Given the description of an element on the screen output the (x, y) to click on. 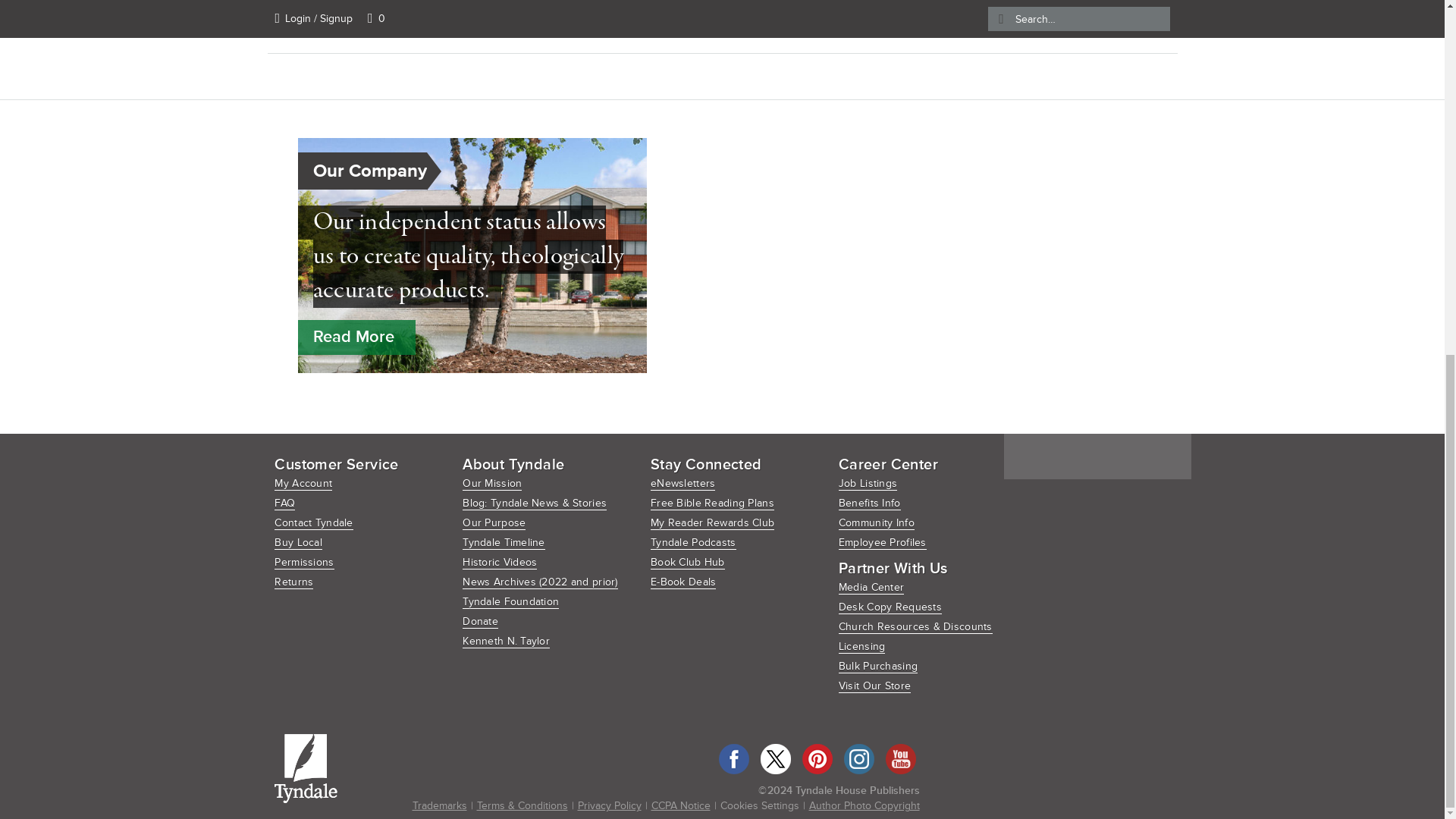
Tyndale House on Twitter (775, 758)
Tyndale House on Instagram (858, 758)
Tyndale House on Facebook (734, 758)
Tyndale House on Pinterest (817, 758)
Tyndale.com.com (307, 768)
Tyndale House on Youtube (900, 758)
